Given the description of an element on the screen output the (x, y) to click on. 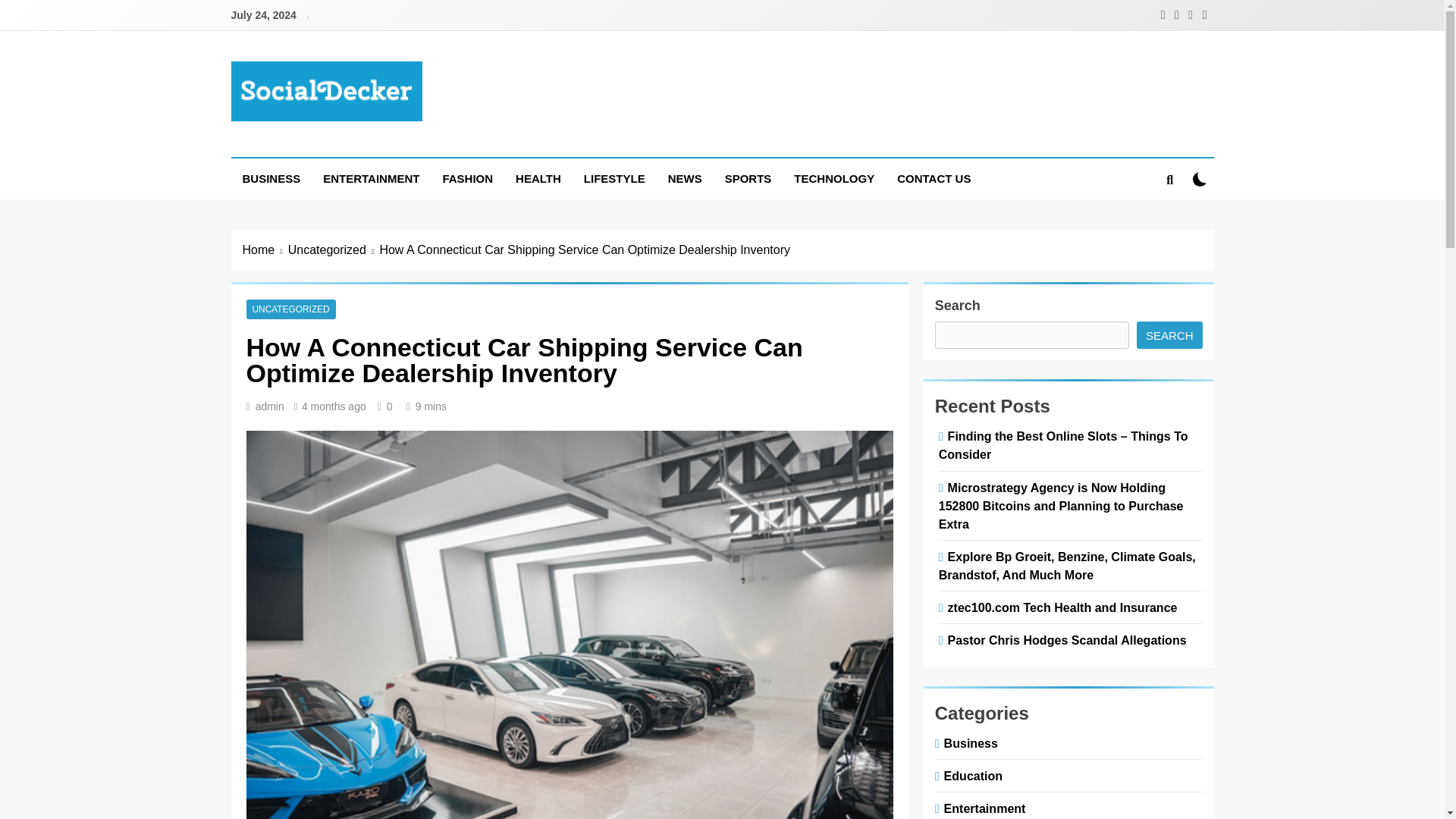
TECHNOLOGY (834, 178)
Uncategorized (334, 249)
ztec100.com Tech Health and Insurance (1059, 607)
NEWS (684, 178)
CONTACT US (933, 178)
BUSINESS (270, 178)
Education (970, 775)
SocialDecker (330, 143)
4 months ago (333, 406)
Home (265, 249)
on (1199, 178)
FASHION (466, 178)
HEALTH (537, 178)
SPORTS (748, 178)
